Given the description of an element on the screen output the (x, y) to click on. 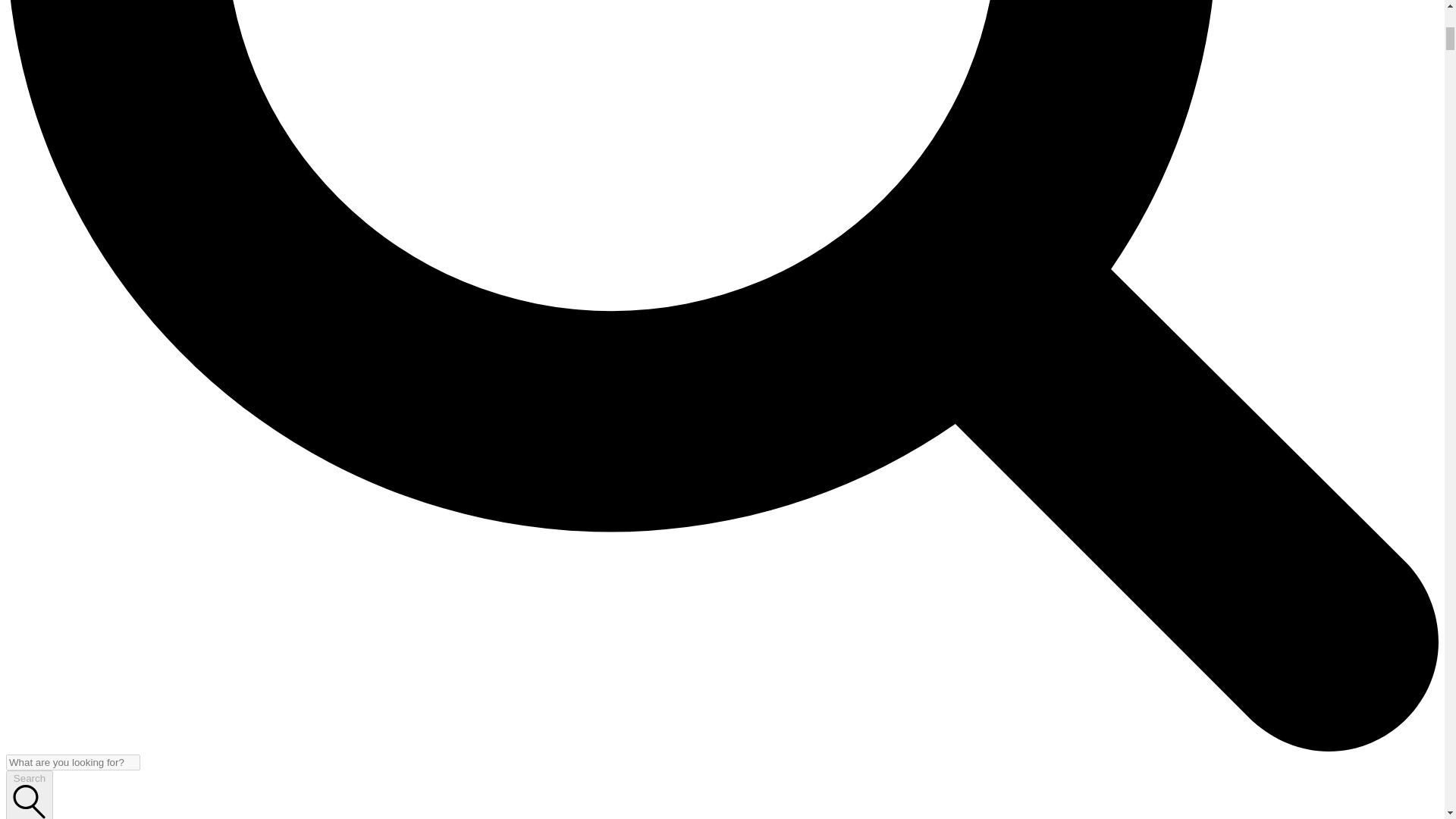
Search (28, 794)
Search (28, 794)
